Given the description of an element on the screen output the (x, y) to click on. 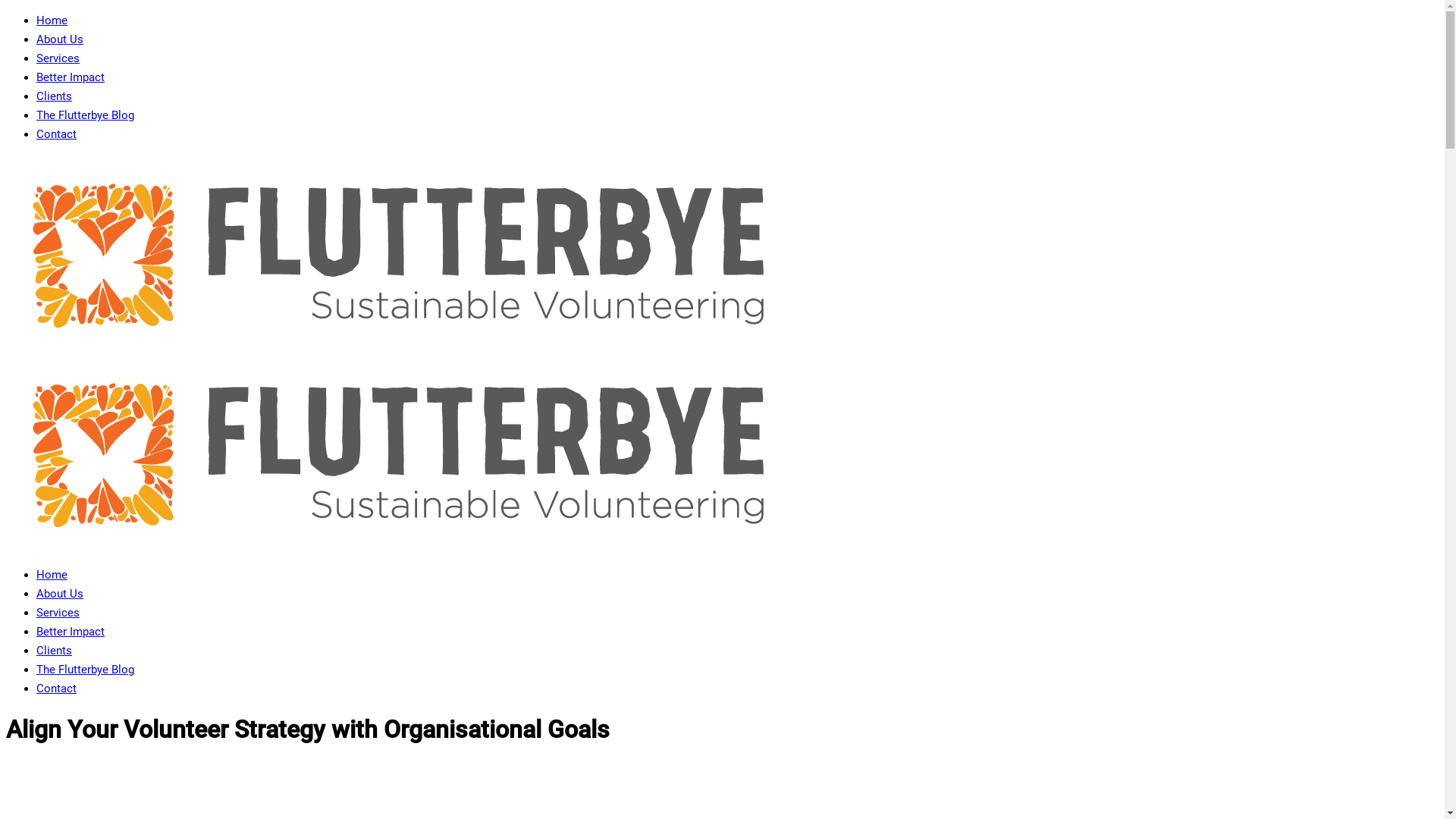
Better Impact Element type: text (70, 631)
Clients Element type: text (54, 96)
The Flutterbye Blog Element type: text (85, 115)
Home Element type: text (51, 574)
About Us Element type: text (59, 593)
Services Element type: text (57, 58)
Home Element type: text (51, 20)
Better Impact Element type: text (70, 77)
Clients Element type: text (54, 650)
Contact Element type: text (56, 688)
Services Element type: text (57, 612)
The Flutterbye Blog Element type: text (85, 669)
About Us Element type: text (59, 39)
Contact Element type: text (56, 134)
